Given the description of an element on the screen output the (x, y) to click on. 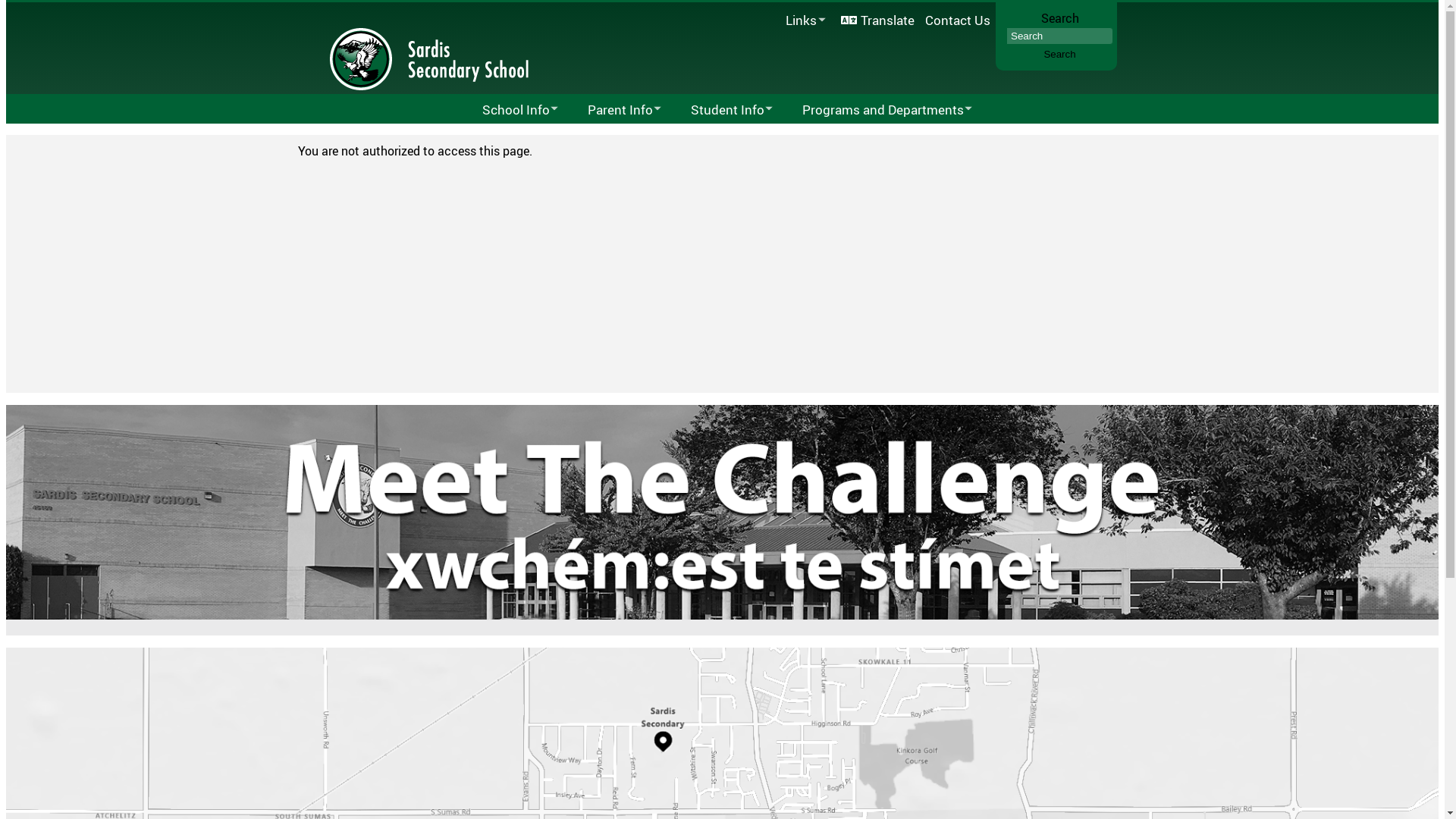
Skip to main content Element type: text (6, 0)
Enter the terms you wish to search for. Element type: hover (1059, 35)
Office 365 Element type: text (784, 40)
Contact Us Element type: text (956, 19)
Agriculture Program Element type: text (889, 138)
Translate Element type: text (877, 19)
Attendance Element type: text (698, 138)
Alumni Element type: text (806, 138)
Search Element type: text (1058, 53)
Office 365 Element type: text (1069, 138)
2021-25 Sardis Growth Plan Element type: text (554, 138)
